Given the description of an element on the screen output the (x, y) to click on. 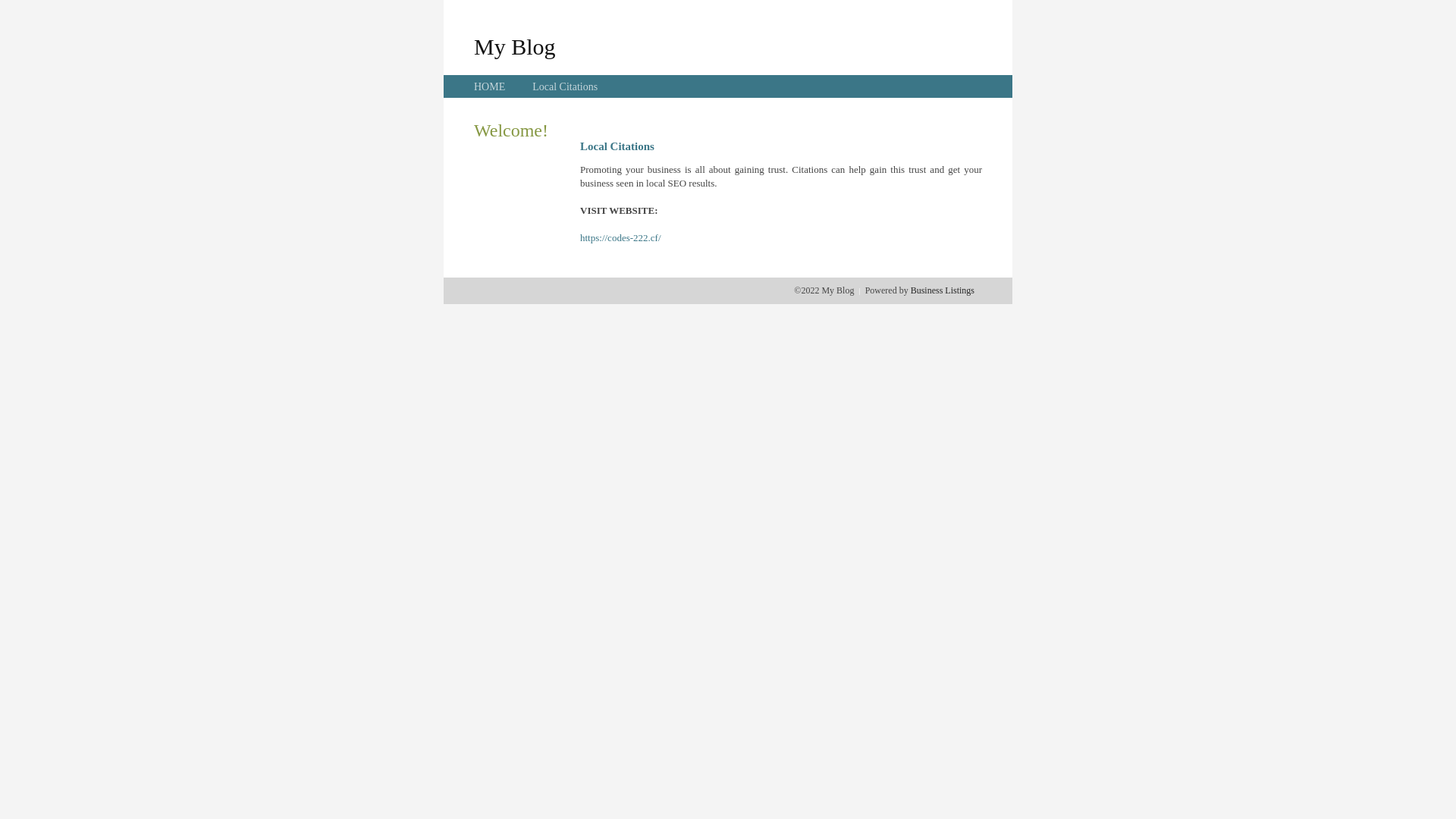
My Blog Element type: text (514, 46)
Local Citations Element type: text (564, 86)
https://codes-222.cf/ Element type: text (620, 237)
HOME Element type: text (489, 86)
Business Listings Element type: text (942, 290)
